Given the description of an element on the screen output the (x, y) to click on. 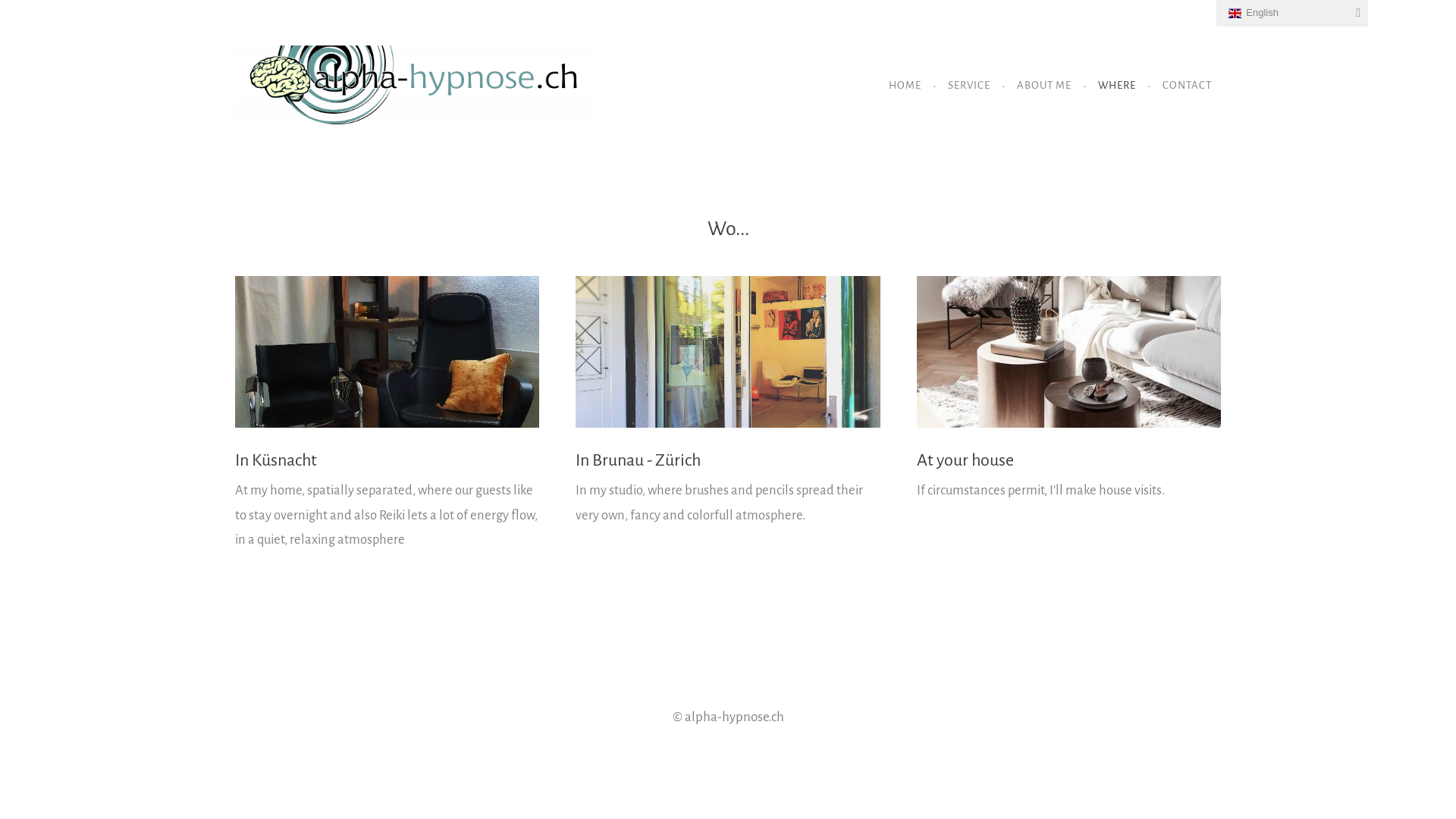
CONTACT Element type: text (1186, 85)
HOME Element type: text (904, 85)
WHERE Element type: text (1116, 85)
SERVICE Element type: text (968, 85)
ABOUT ME Element type: text (1043, 85)
English Element type: text (1292, 13)
